Given the description of an element on the screen output the (x, y) to click on. 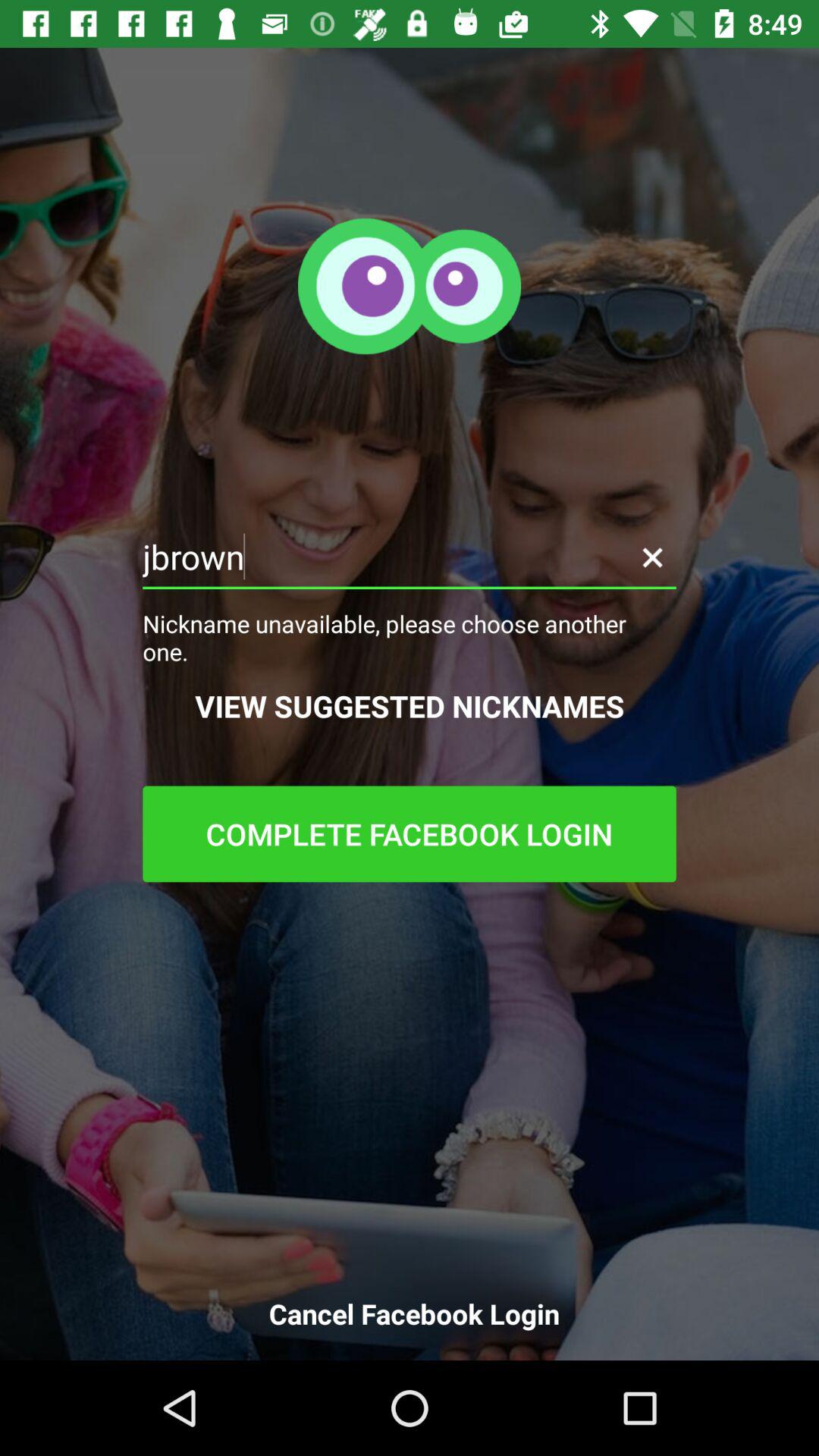
delete nickname (652, 557)
